Given the description of an element on the screen output the (x, y) to click on. 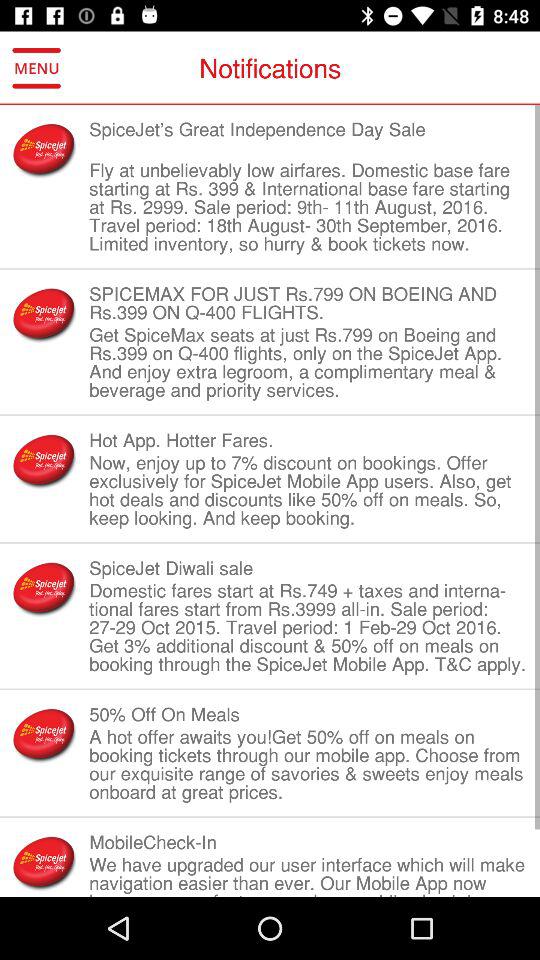
flip until get spicemax seats icon (307, 362)
